Given the description of an element on the screen output the (x, y) to click on. 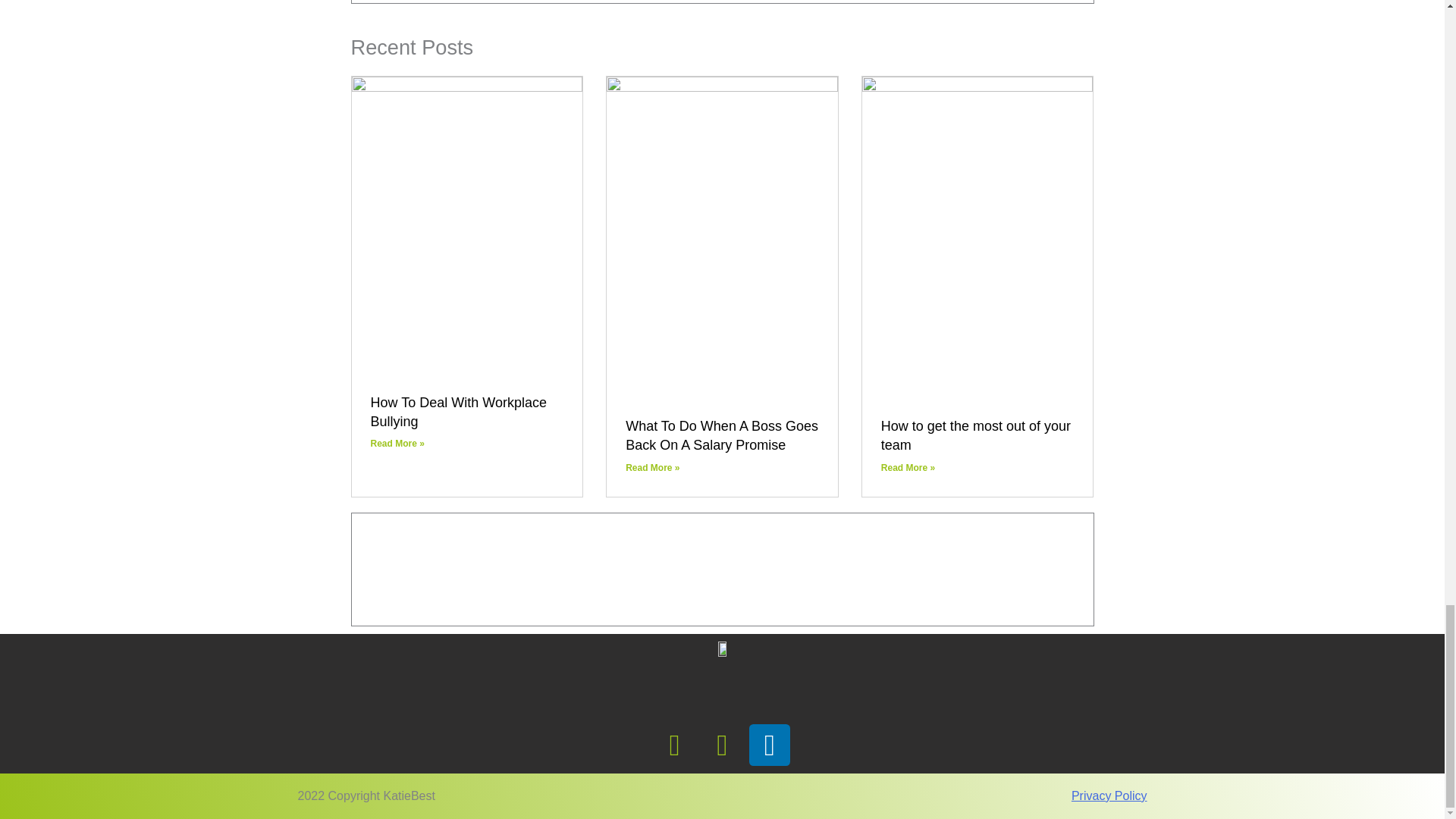
What To Do When A Boss Goes Back On A Salary Promise (722, 435)
How to get the most out of your team (975, 435)
Phone-alt (674, 744)
Privacy Policy (1109, 795)
How To Deal With Workplace Bullying (457, 411)
Envelope (721, 744)
Linkedin (769, 744)
Recent Posts (411, 47)
